Given the description of an element on the screen output the (x, y) to click on. 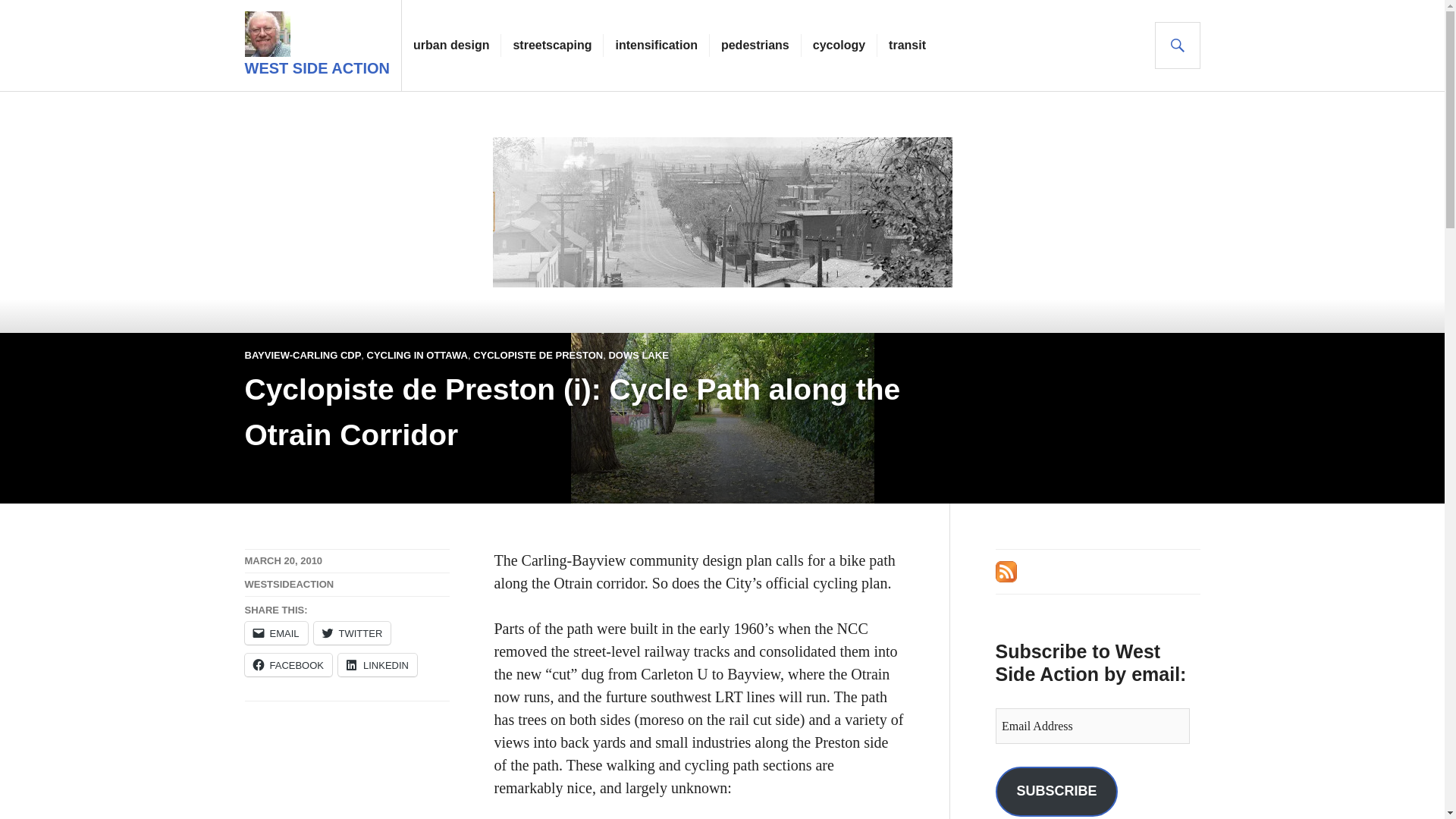
pedestrians (754, 45)
CYCLOPISTE DE PRESTON (537, 355)
urban design (451, 45)
MARCH 20, 2010 (282, 560)
Click to share on Facebook (287, 664)
Click to share on LinkedIn (376, 664)
FACEBOOK (287, 664)
WESTSIDEACTION (288, 583)
SEARCH (1176, 45)
CYCLING IN OTTAWA (416, 355)
